Given the description of an element on the screen output the (x, y) to click on. 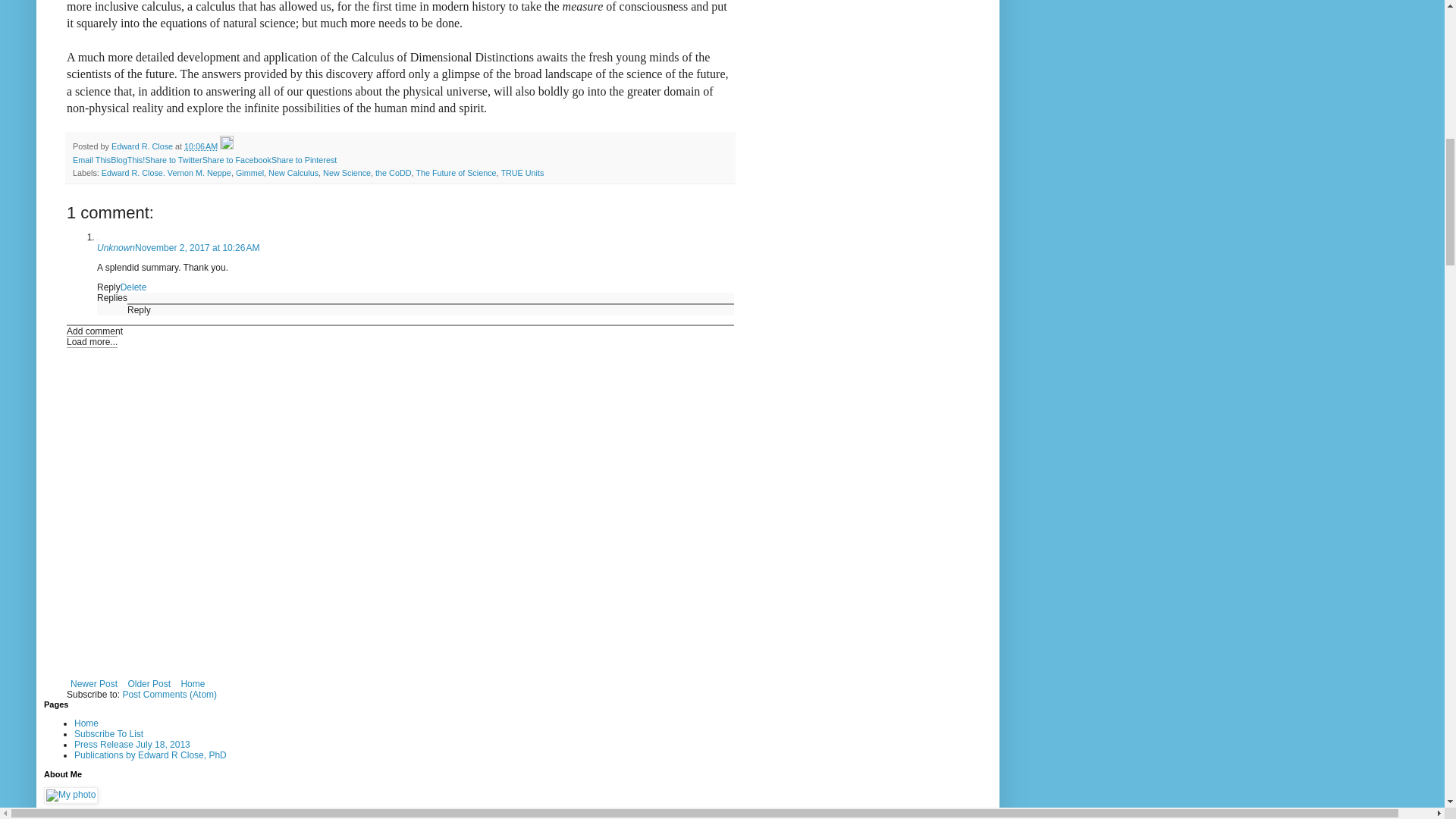
Home (192, 683)
Publications by Edward R Close, PhD (150, 755)
Share to Pinterest (303, 159)
The Future of Science (455, 172)
author profile (143, 145)
New Science (347, 172)
permanent link (200, 145)
Press Release July 18, 2013 (132, 744)
Unknown (116, 247)
Share to Facebook (236, 159)
Email This (91, 159)
Home (86, 723)
Edward R. Close (77, 816)
Gimmel (249, 172)
Edward R. Close (143, 145)
